Given the description of an element on the screen output the (x, y) to click on. 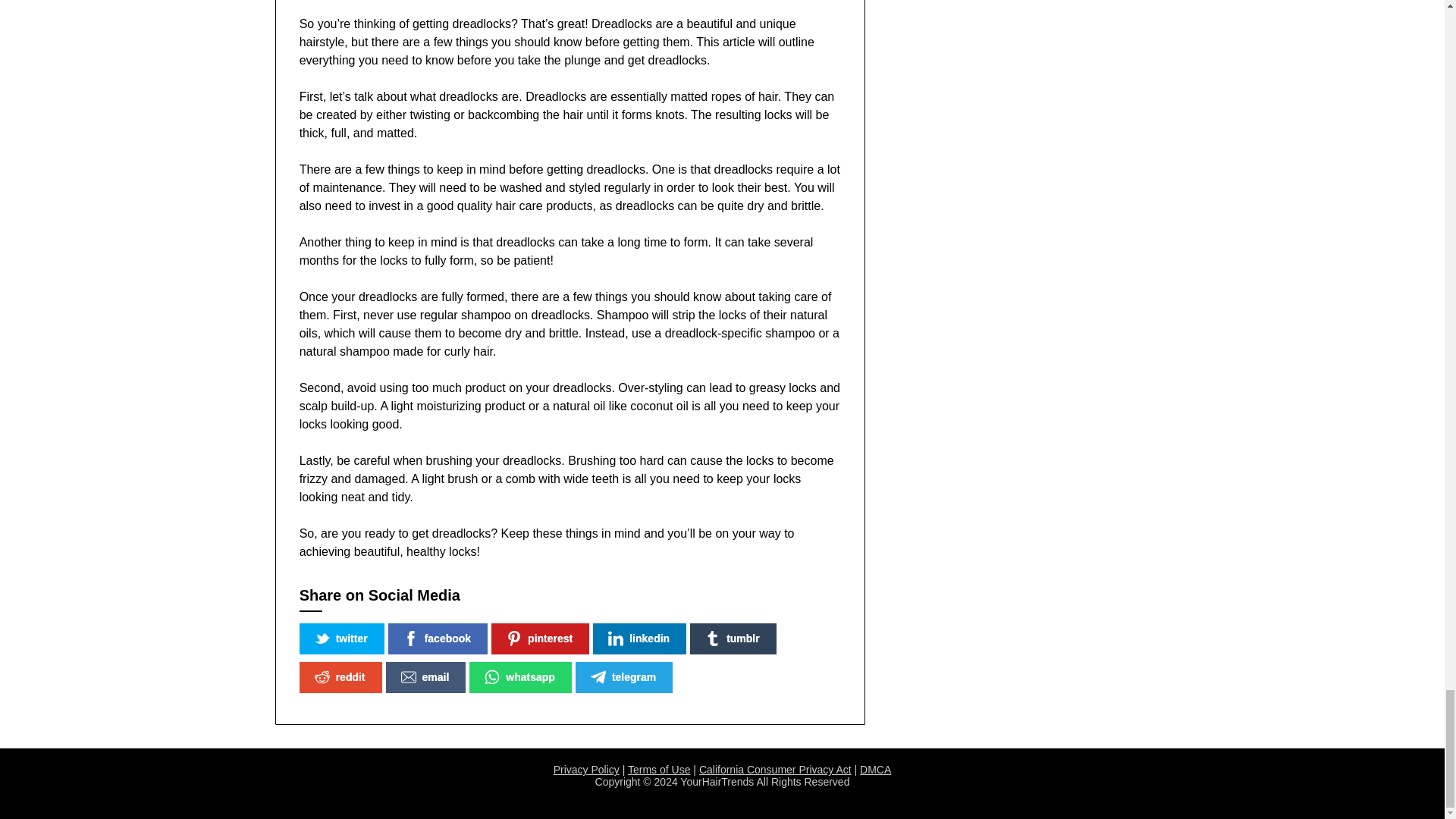
pinterest (540, 638)
tumblr (733, 638)
linkedin (638, 638)
whatsapp (520, 676)
email (425, 676)
twitter (341, 638)
telegram (623, 676)
reddit (340, 676)
facebook (437, 638)
